Given the description of an element on the screen output the (x, y) to click on. 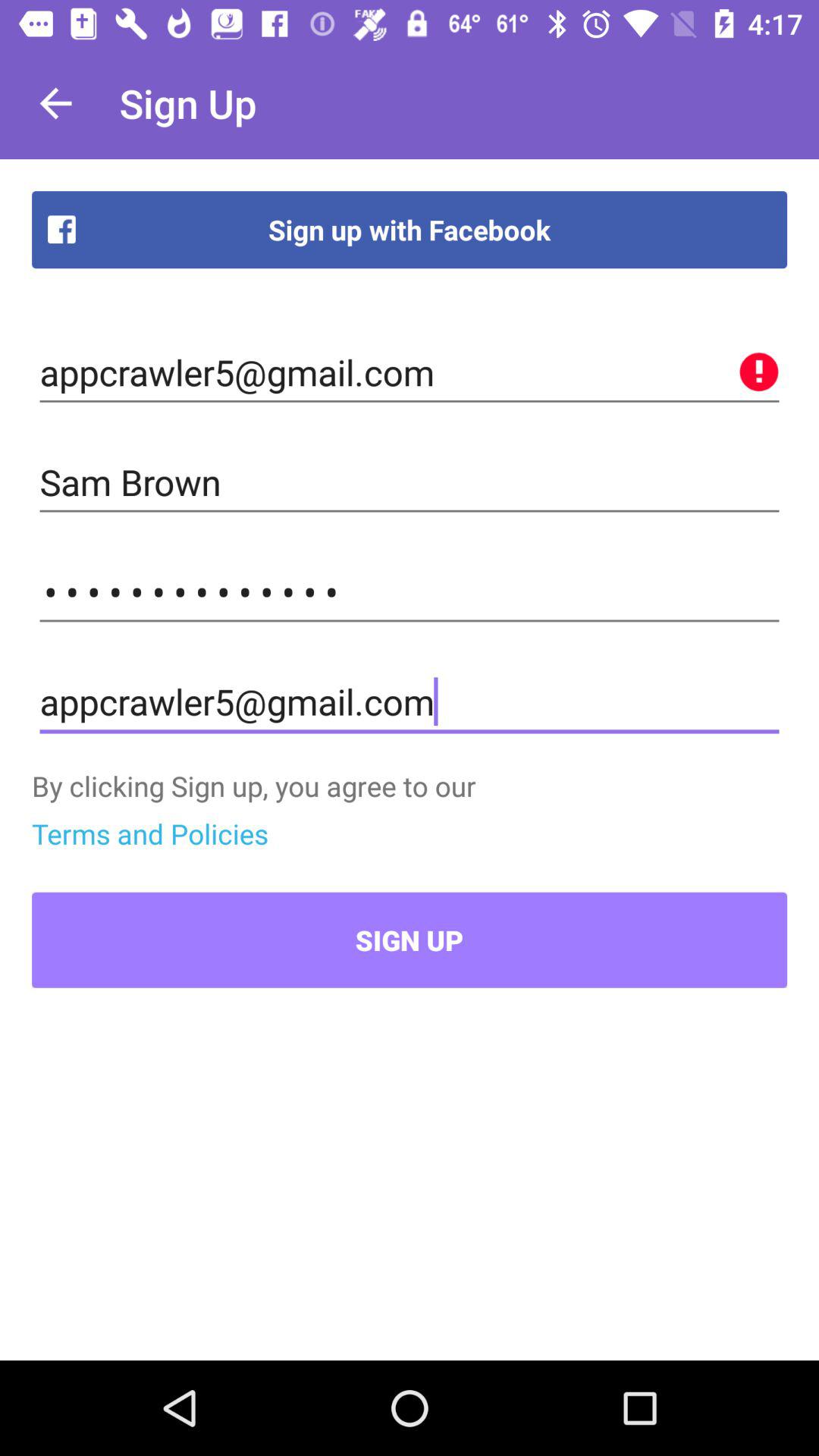
select the sam brown item (409, 482)
